Given the description of an element on the screen output the (x, y) to click on. 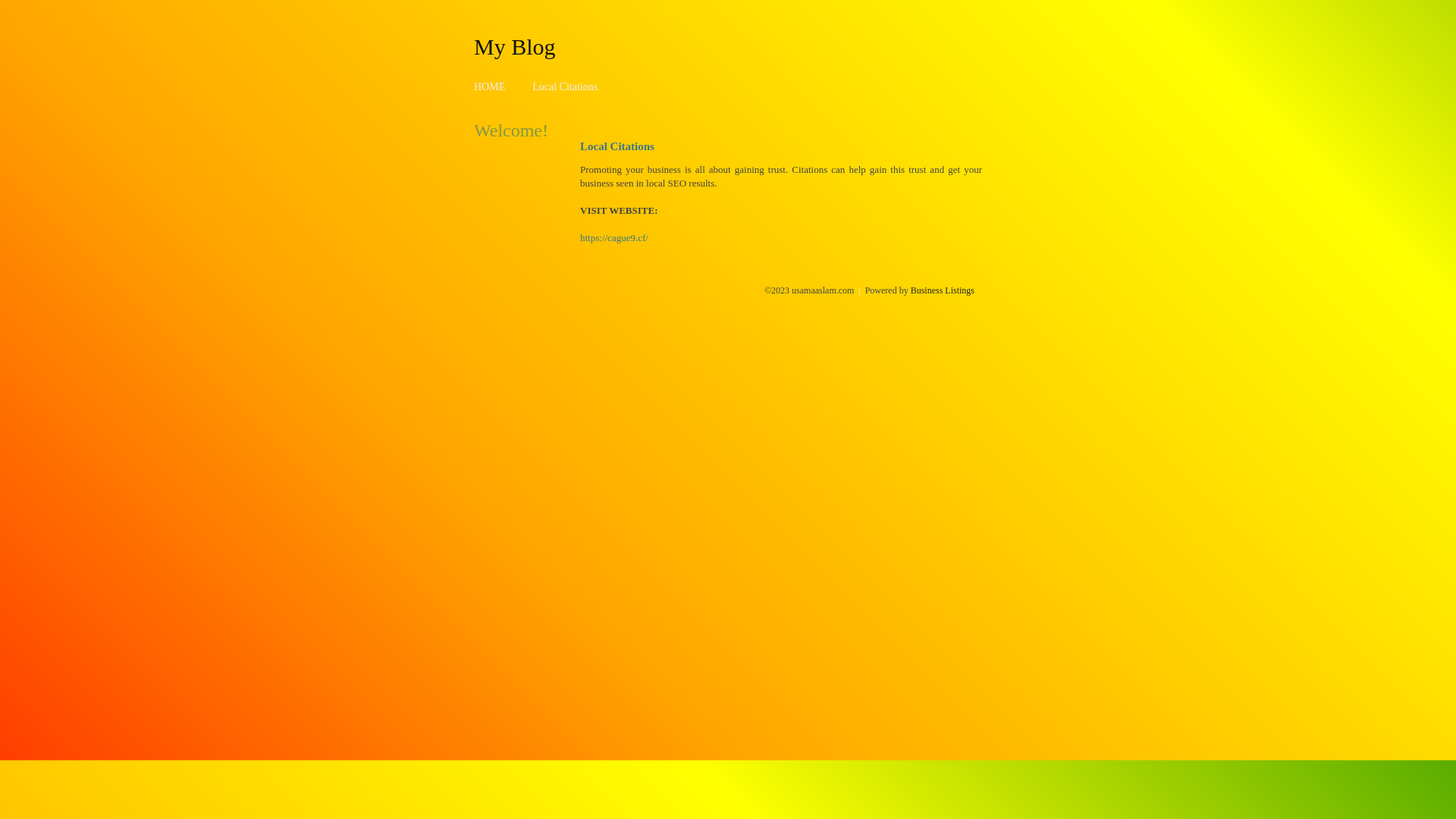
HOME Element type: text (489, 86)
My Blog Element type: text (514, 46)
Local Citations Element type: text (564, 86)
Business Listings Element type: text (942, 290)
https://cague9.cf/ Element type: text (614, 237)
